Given the description of an element on the screen output the (x, y) to click on. 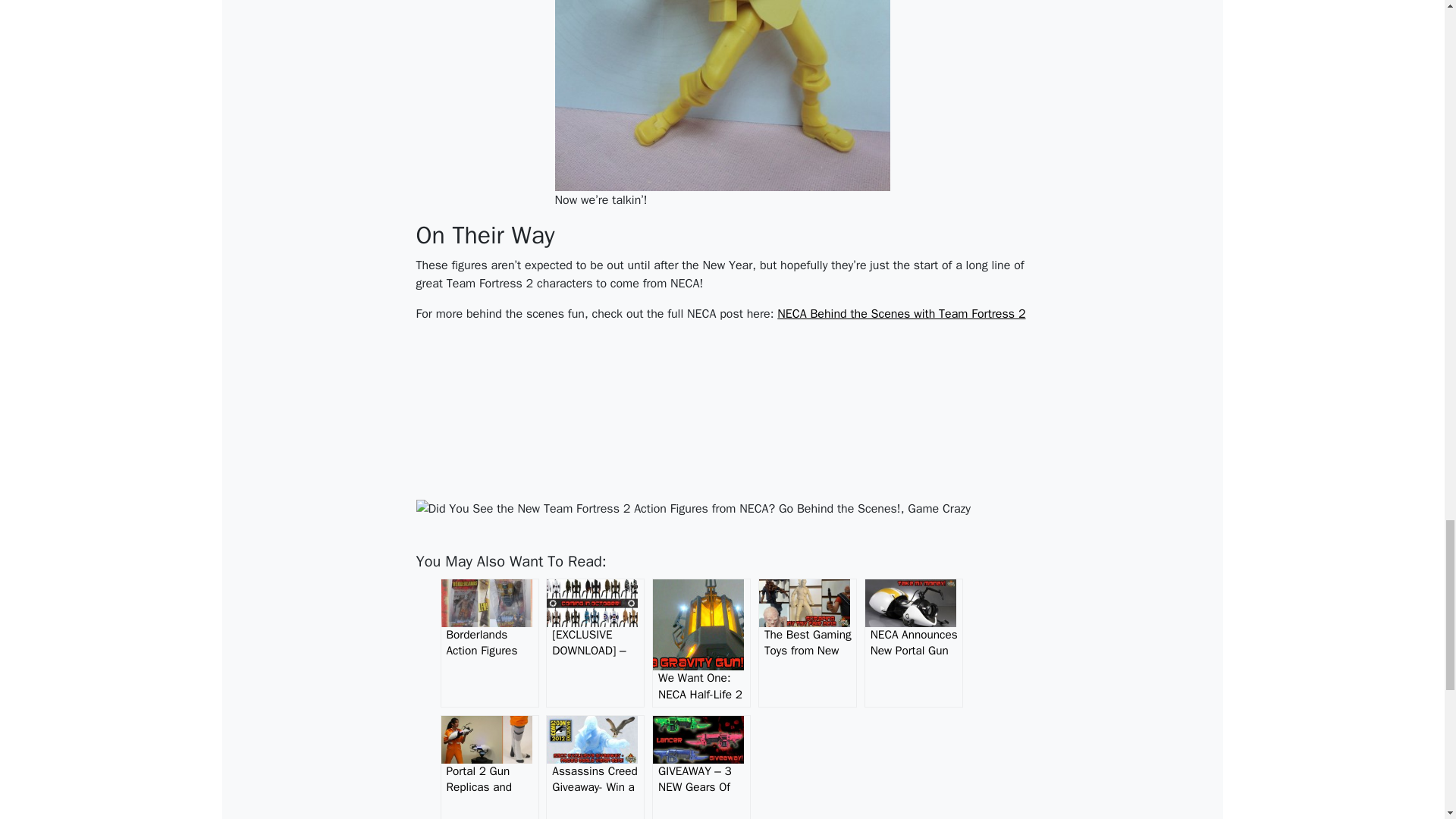
NECA Behind The Scenes With Team Fortress 2 (901, 313)
demo bts3 (721, 95)
NECA Behind the Scenes with Team Fortress 2 (901, 313)
